Given the description of an element on the screen output the (x, y) to click on. 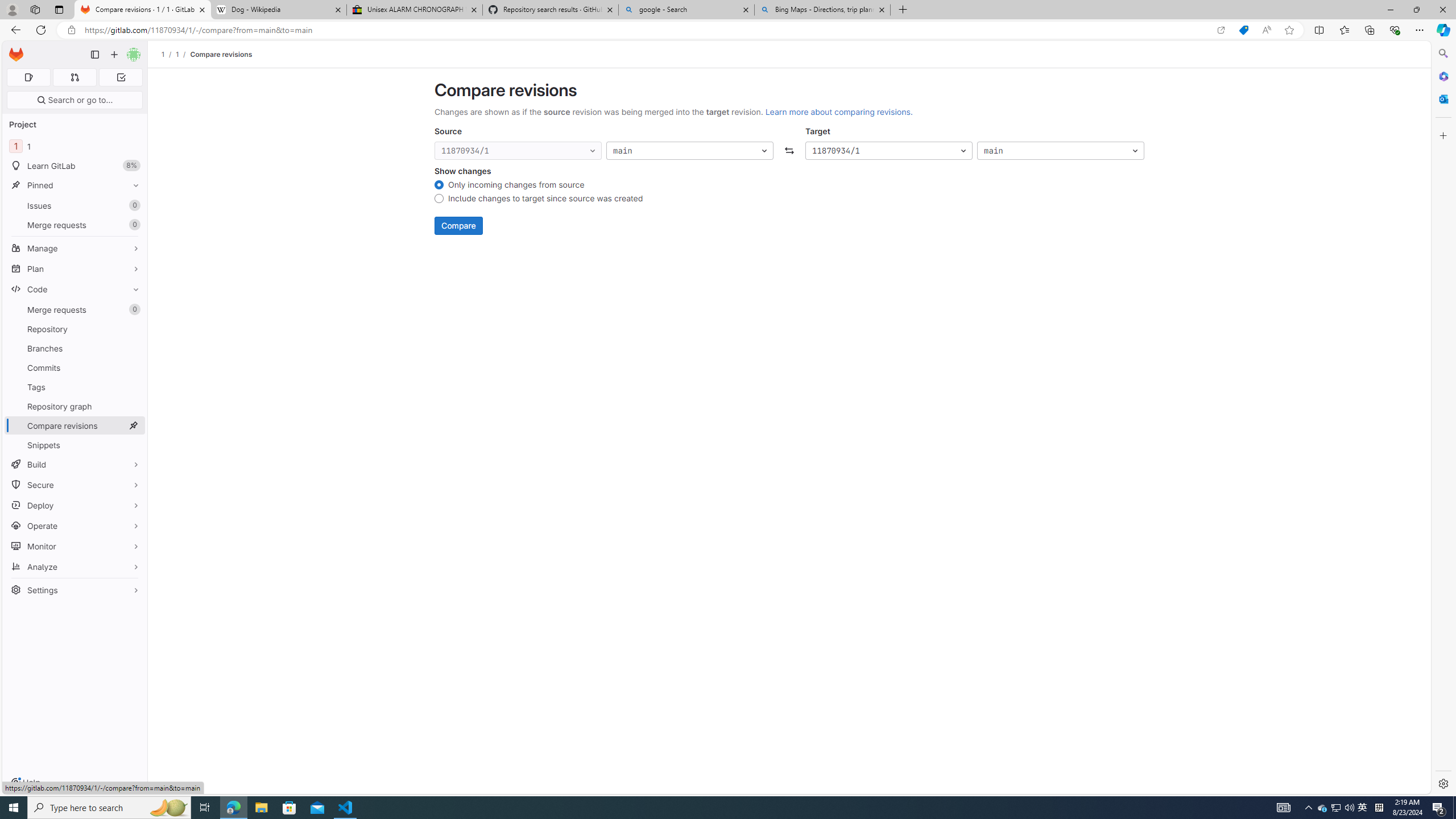
Unpin Merge requests (132, 309)
11870934/1 (888, 150)
Deploy (74, 505)
Tags (74, 386)
Pin Compare revisions (132, 425)
Repository graph (74, 406)
Learn GitLab 8% (74, 165)
Commits (74, 367)
Repository (74, 328)
Pin Snippets (132, 445)
